Given the description of an element on the screen output the (x, y) to click on. 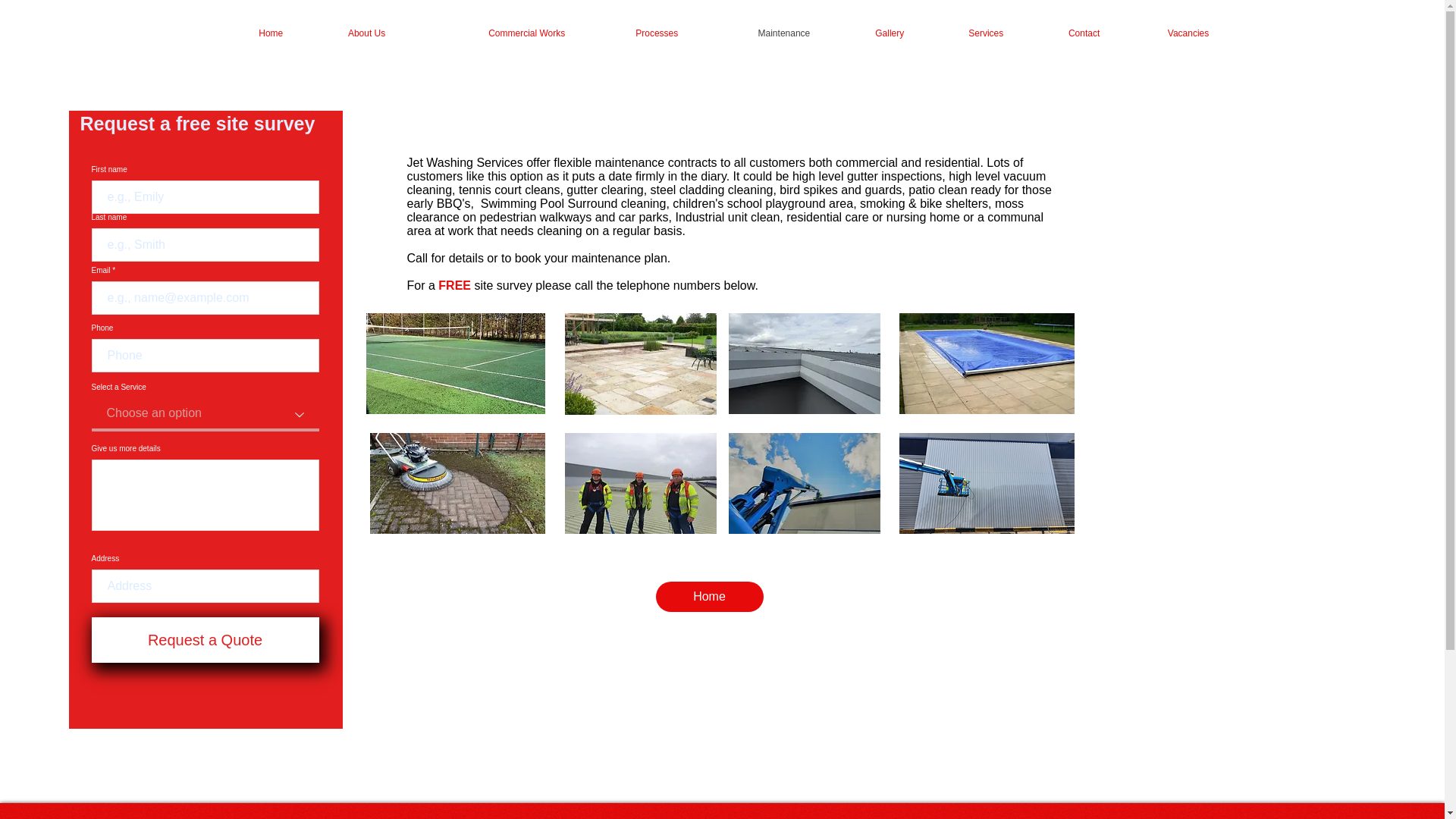
Contact (1062, 33)
Vacancies (1165, 33)
Maintenance (754, 33)
Home (259, 33)
Commercial Works (486, 33)
Gallery (868, 33)
Request a Quote (204, 639)
Services (964, 33)
About Us (345, 33)
Processes (632, 33)
Home (708, 596)
